Given the description of an element on the screen output the (x, y) to click on. 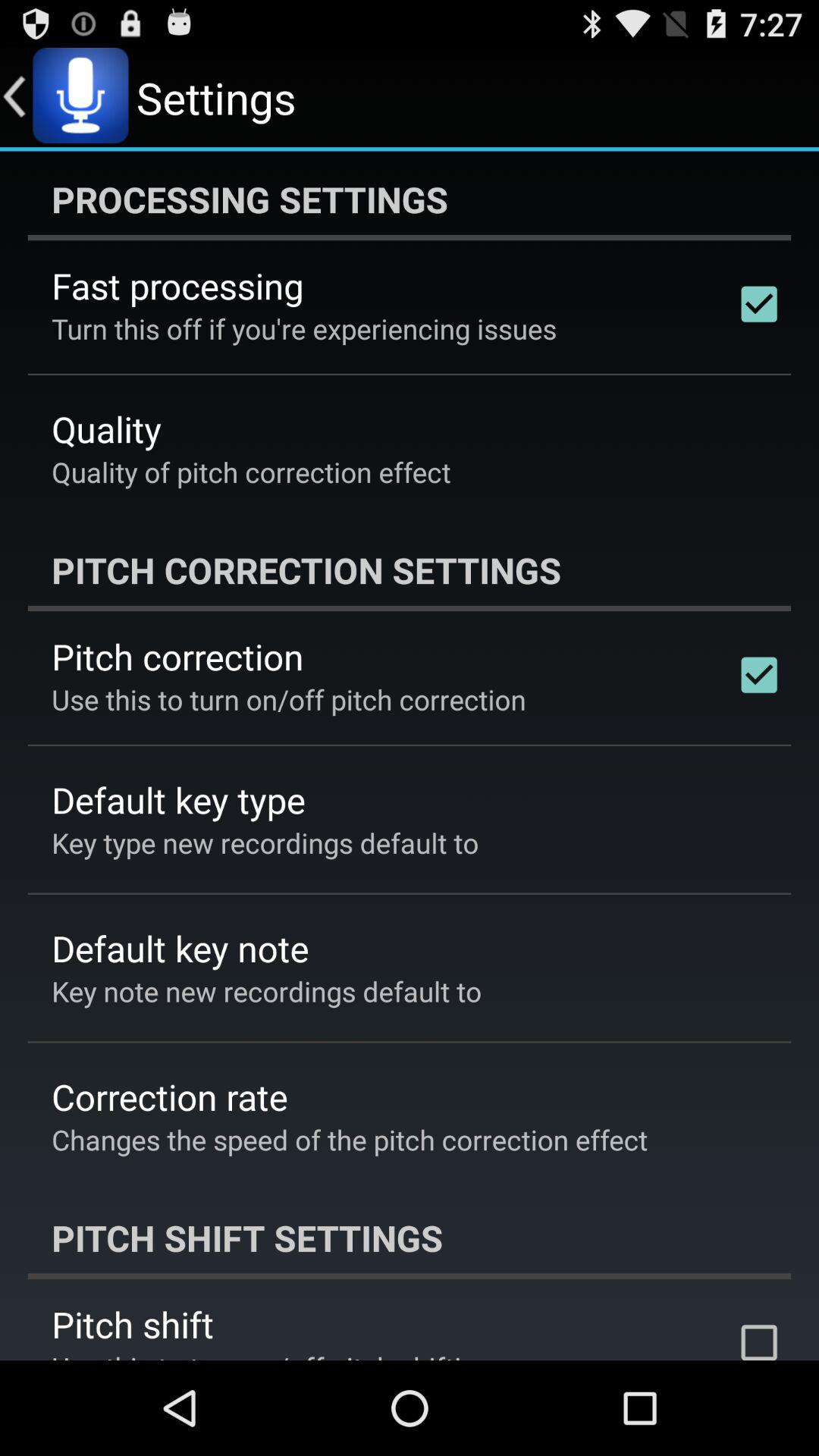
click on the box which is beside pitch correction (759, 674)
